Given the description of an element on the screen output the (x, y) to click on. 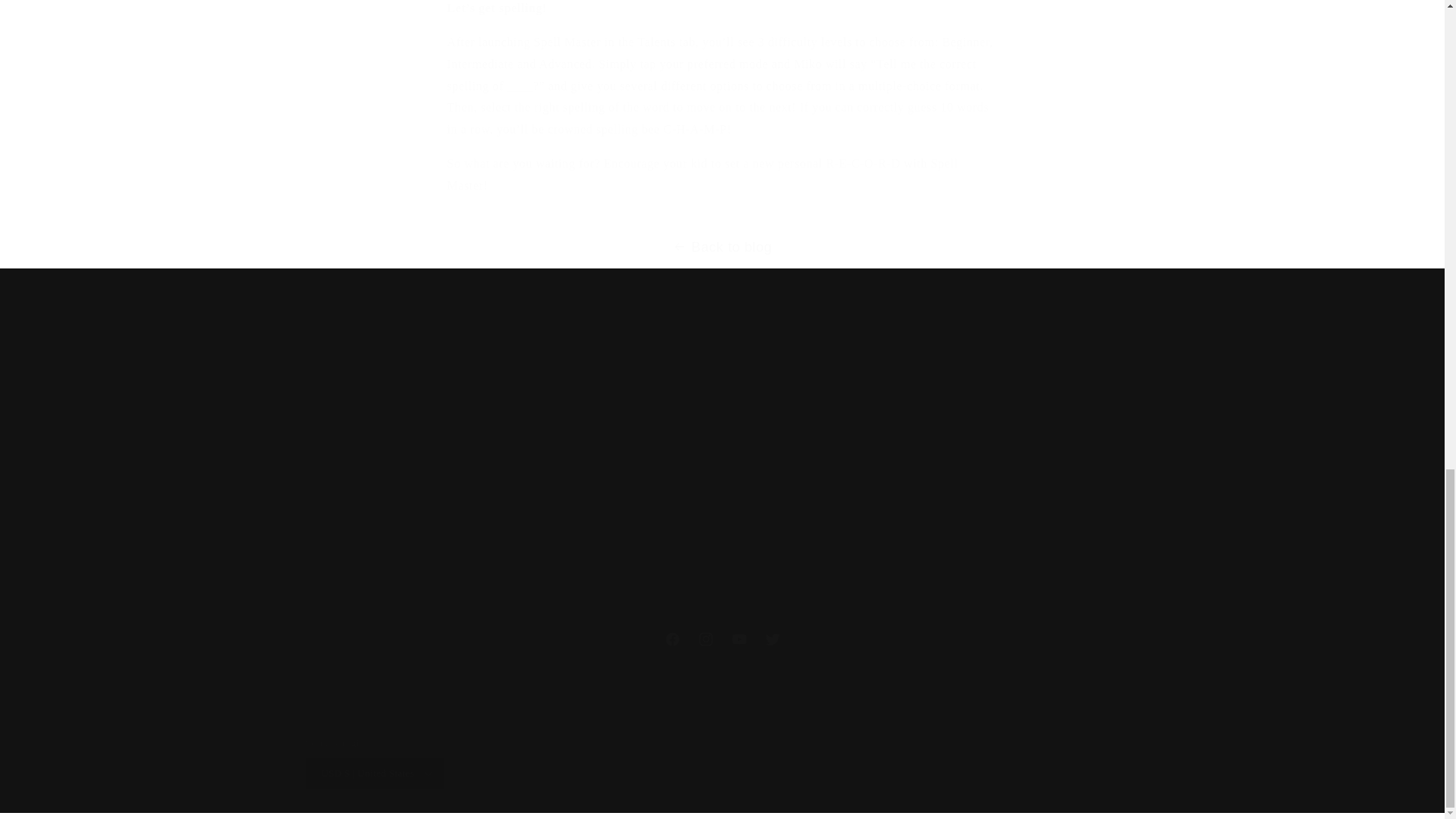
Terms of Service (826, 519)
Refund Policy (406, 547)
Privacy Policy (406, 494)
Help Center (407, 468)
Shipping Policy (616, 468)
